Given the description of an element on the screen output the (x, y) to click on. 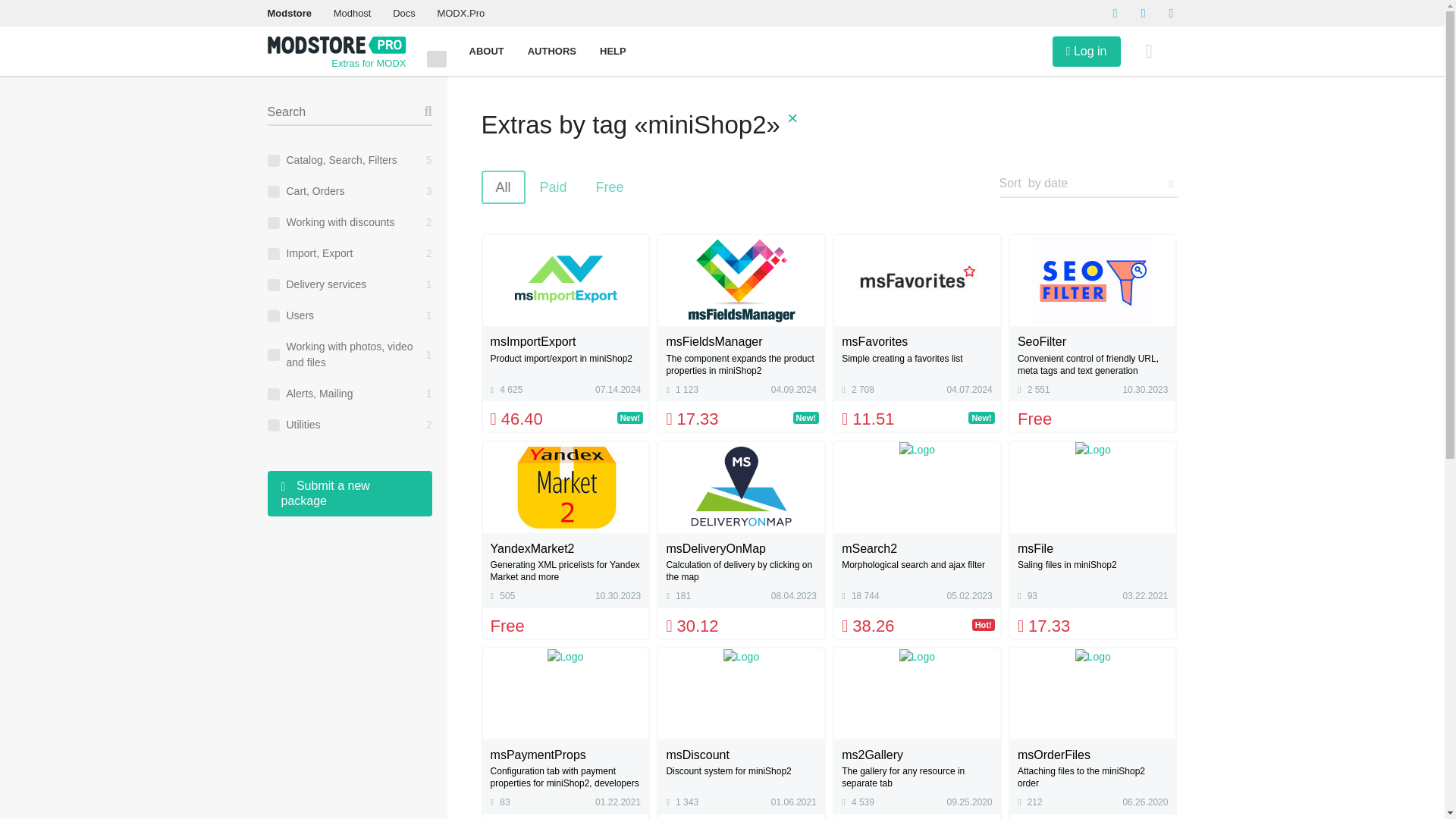
AUTHORS (551, 50)
Free (609, 187)
Submit a new package (348, 493)
Log in (1086, 51)
Sort  by date (1087, 184)
Modhost (352, 12)
HELP (612, 50)
ABOUT (485, 50)
